Given the description of an element on the screen output the (x, y) to click on. 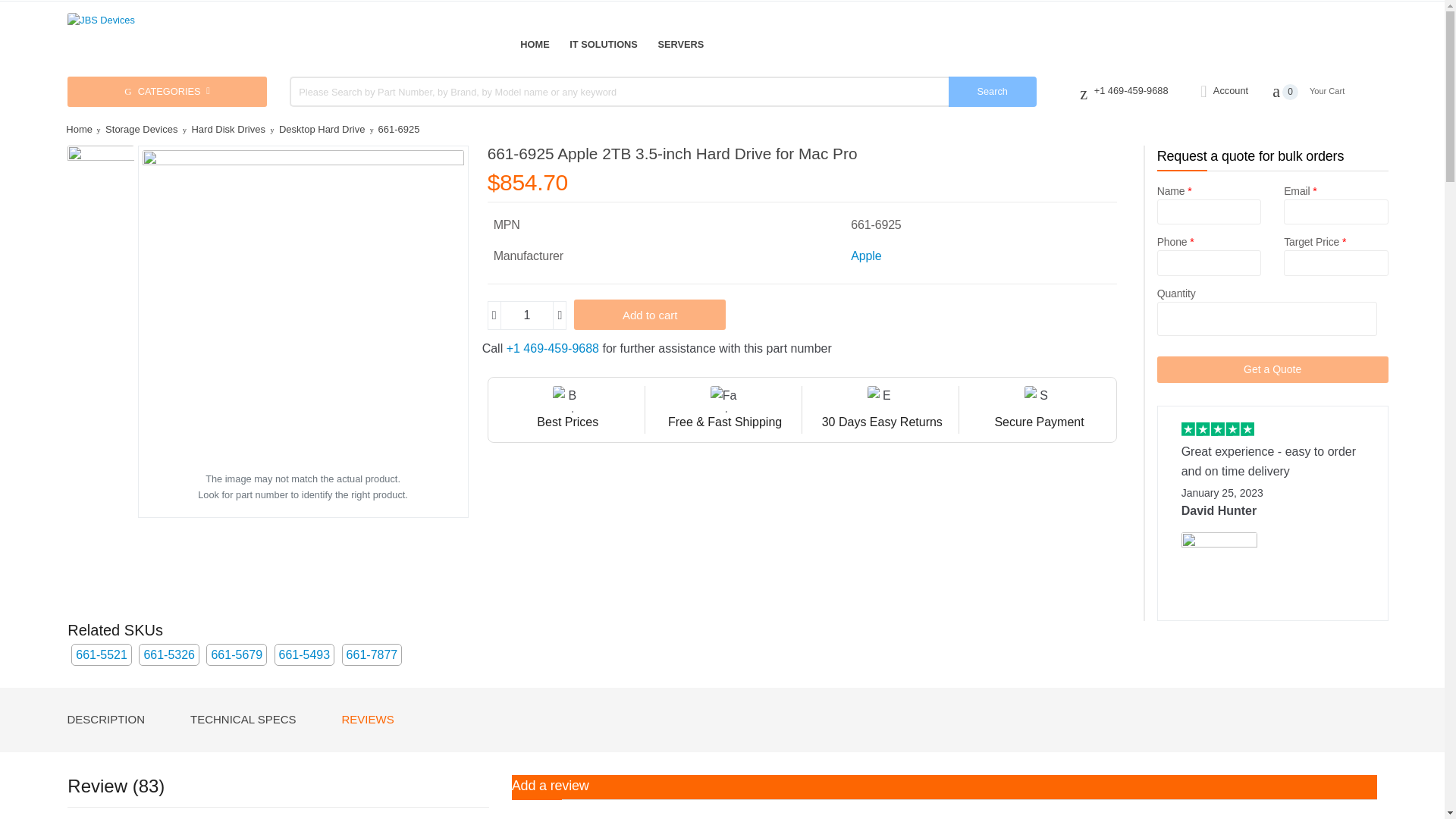
IT Solutions (603, 43)
IT SOLUTIONS (603, 43)
Get a Quote (1273, 369)
Home (533, 43)
View your shopping cart (1324, 91)
CATEGORIES (166, 91)
SERVERS (680, 43)
HOME (533, 43)
